Given the description of an element on the screen output the (x, y) to click on. 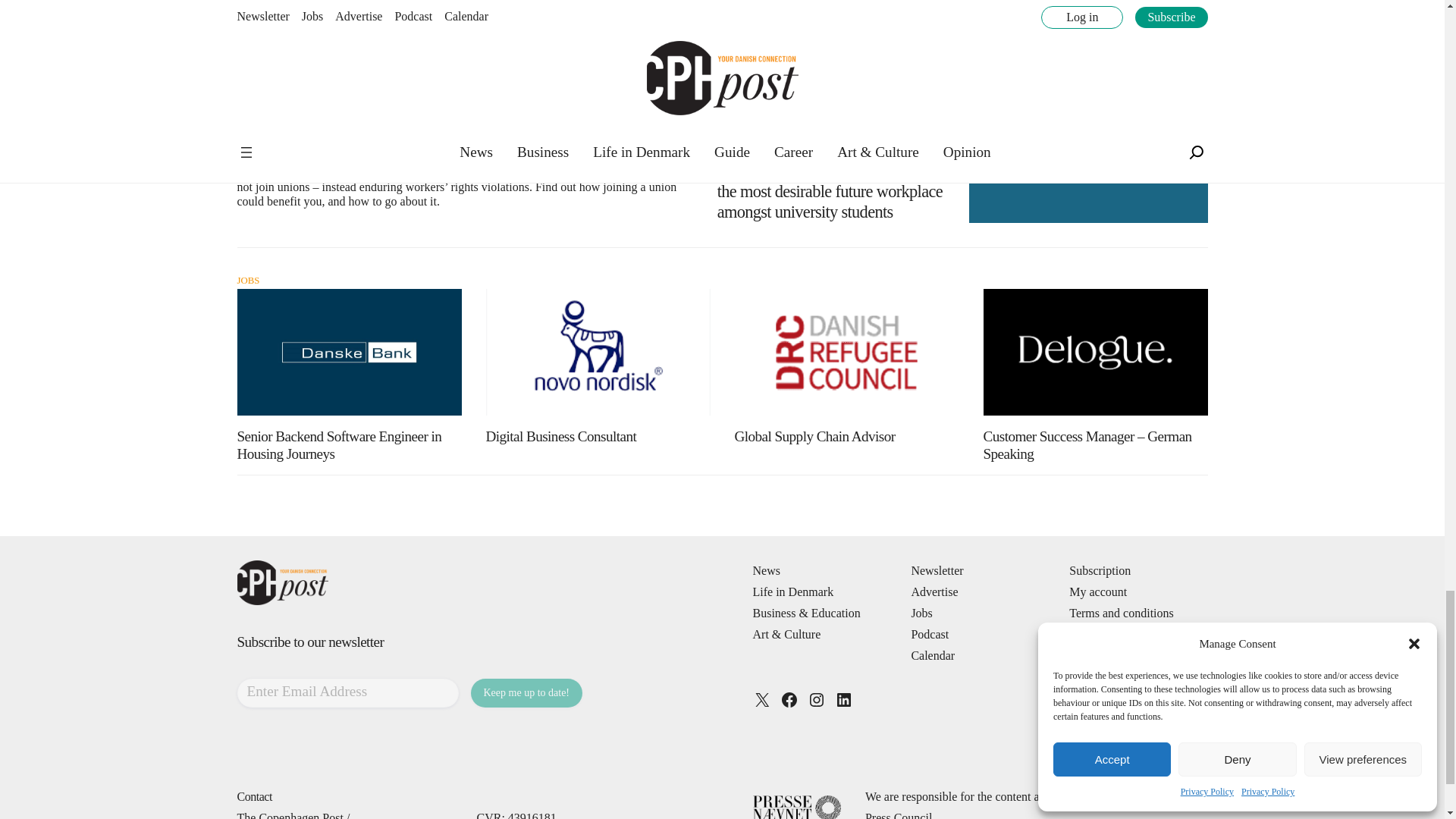
Keep me up to date! (526, 692)
